Given the description of an element on the screen output the (x, y) to click on. 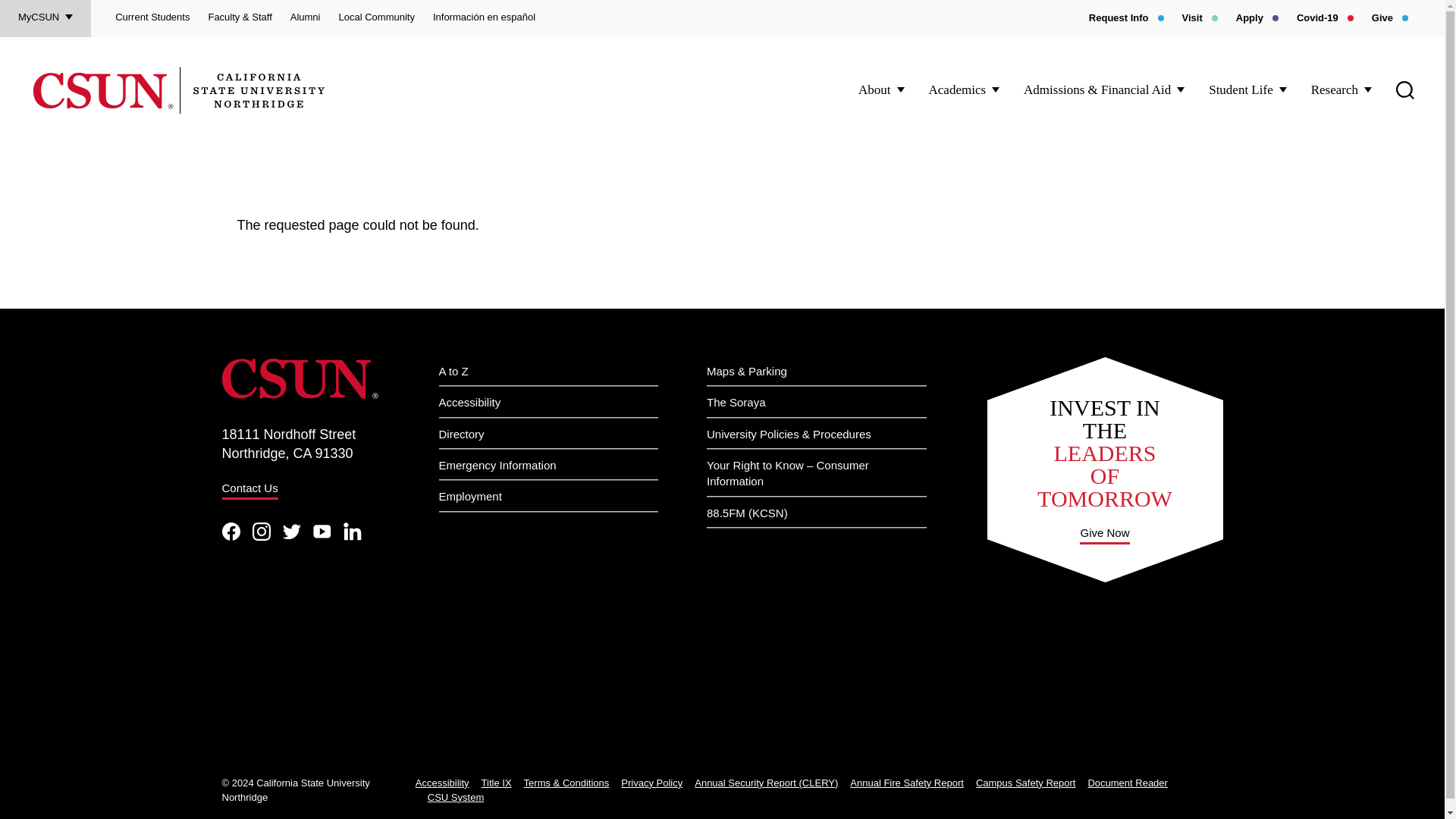
Visit (1199, 18)
Request Info (1126, 18)
Academics (964, 90)
MyCSUN (45, 18)
Give (1389, 18)
Alumni (304, 18)
Covid-19 (1325, 18)
Apply (1257, 18)
Local Community (375, 18)
CSUN California State University Northridge (178, 90)
